Given the description of an element on the screen output the (x, y) to click on. 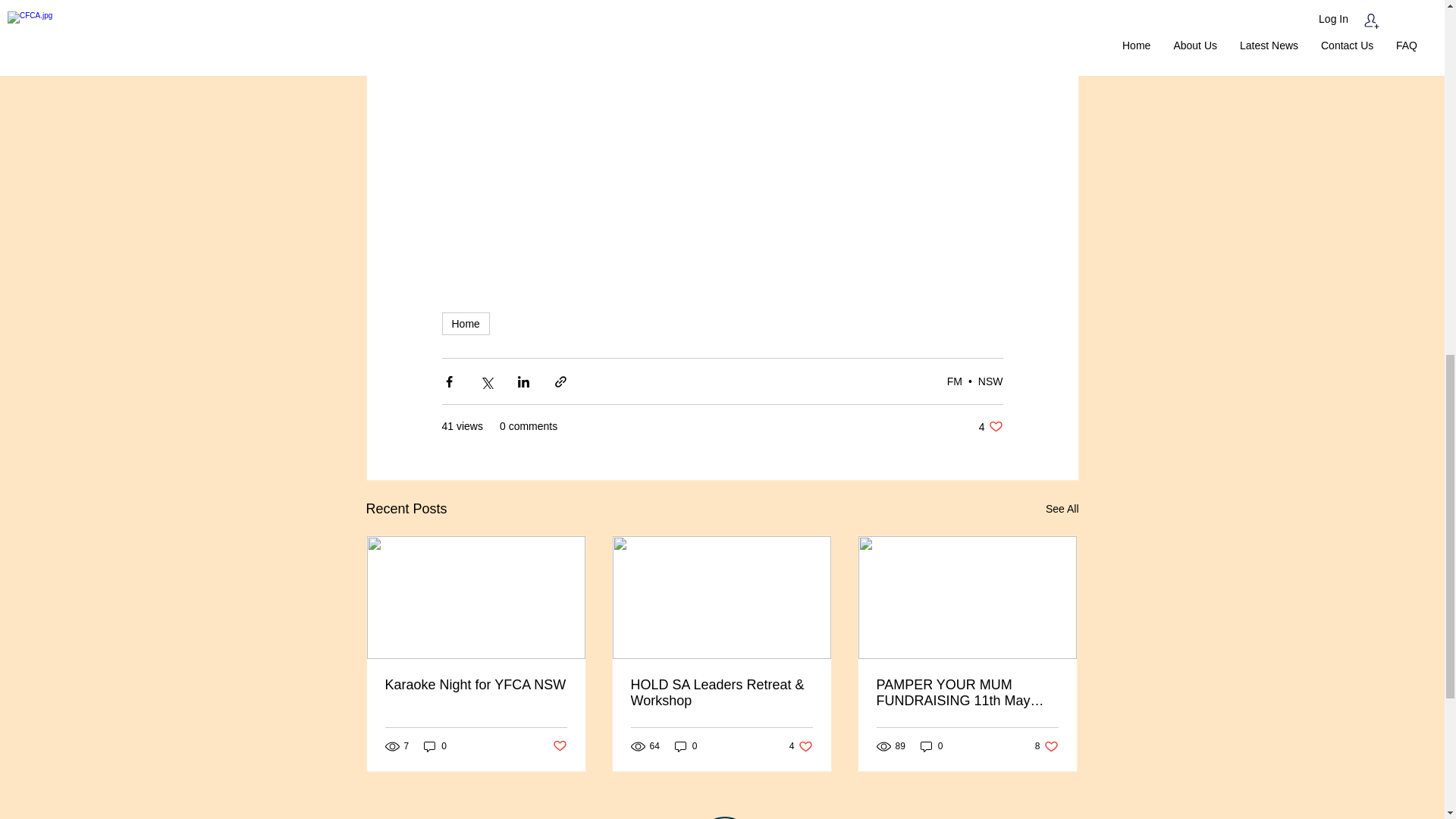
Post not marked as liked (990, 426)
NSW (558, 746)
Home (990, 381)
FM (465, 323)
Karaoke Night for YFCA NSW (954, 381)
See All (476, 684)
0 (1061, 508)
